Given the description of an element on the screen output the (x, y) to click on. 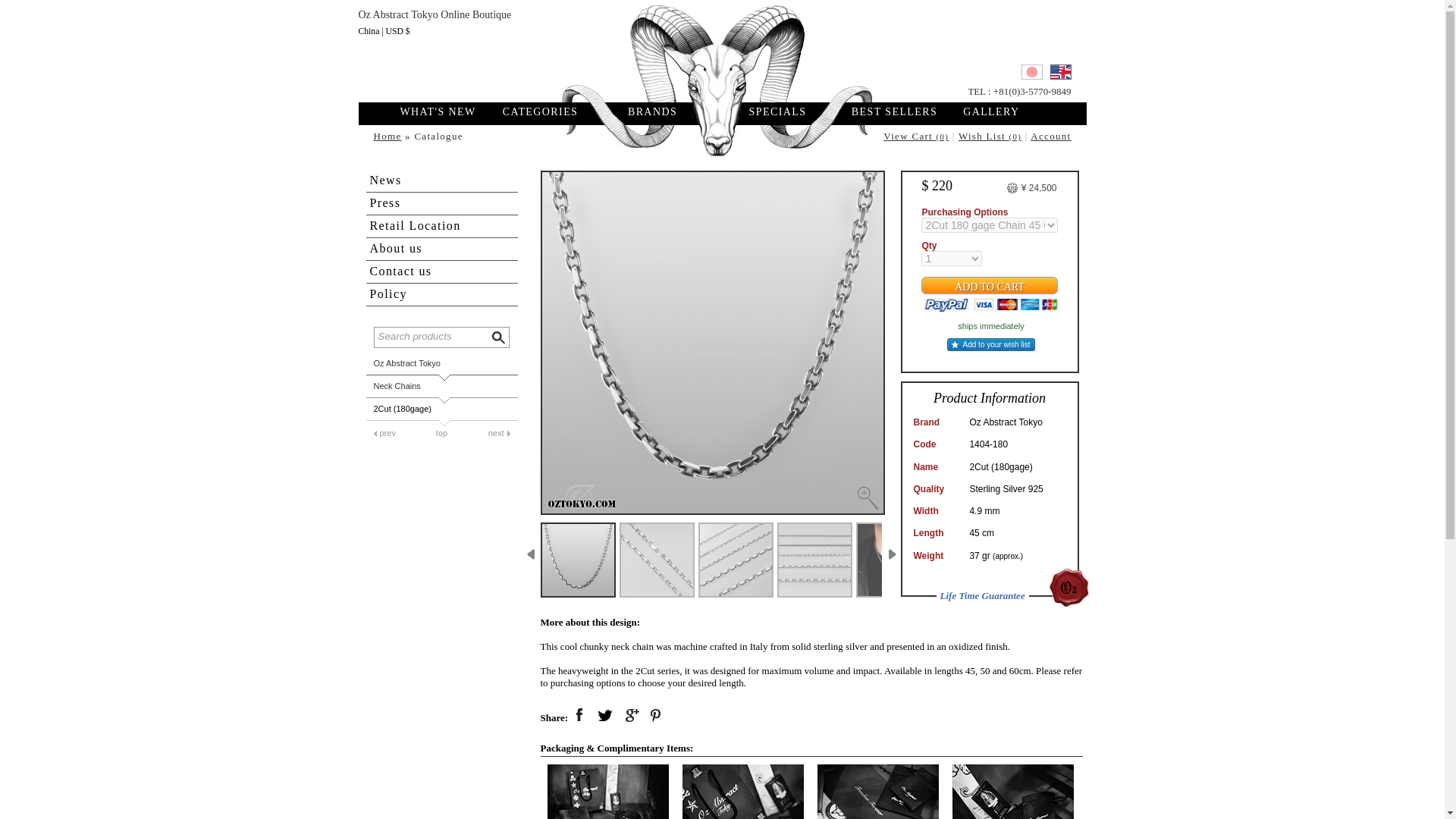
Post on Facebook (579, 715)
Tweet about it (604, 715)
CATEGORIES (540, 112)
Oz Abstract Tokyo Online Boutique (721, 49)
Add on your Pinterest (656, 715)
BRANDS (652, 112)
WHAT'S NEW (446, 112)
